Given the description of an element on the screen output the (x, y) to click on. 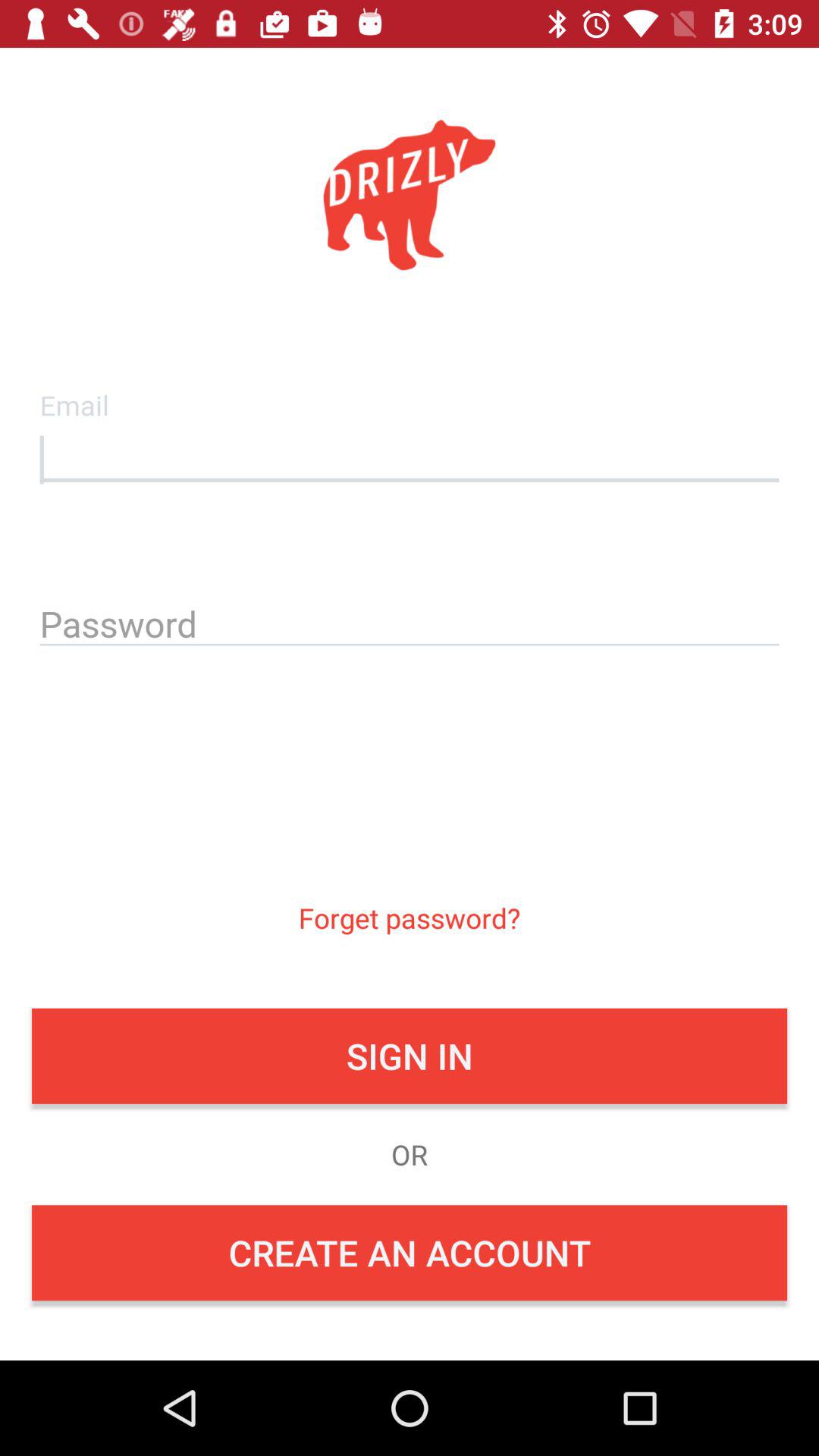
field to insert email (409, 455)
